Given the description of an element on the screen output the (x, y) to click on. 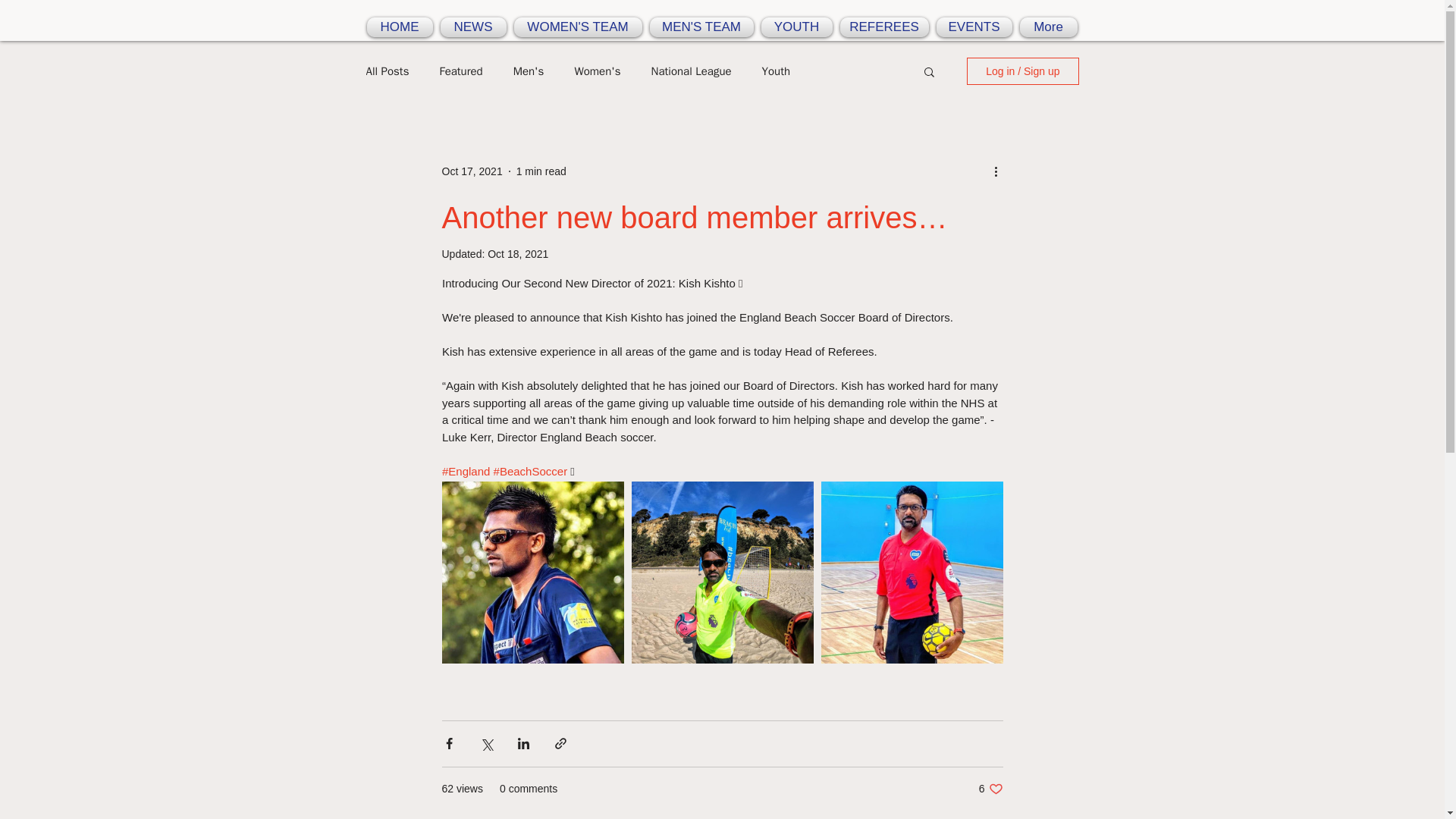
EVENTS (974, 26)
Women's (596, 70)
Oct 17, 2021 (471, 171)
All Posts (990, 788)
Featured (387, 70)
National League (460, 70)
Youth (691, 70)
MEN'S TEAM (775, 70)
1 min read (701, 26)
Men's (541, 171)
REFEREES (528, 70)
NEWS (883, 26)
YOUTH (473, 26)
Oct 18, 2021 (796, 26)
